Given the description of an element on the screen output the (x, y) to click on. 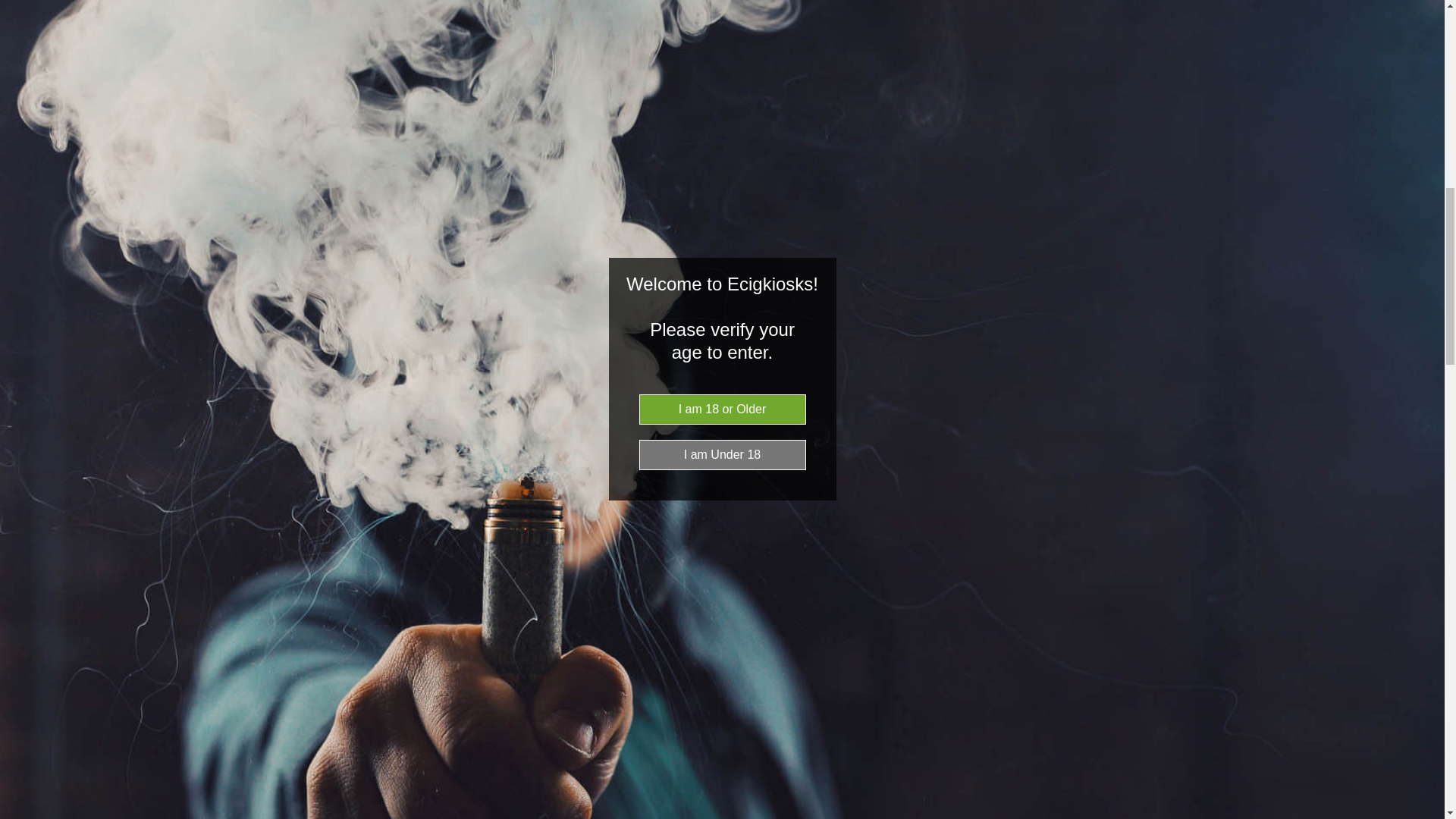
Facebook Armagh (701, 278)
Instagram (738, 278)
